Given the description of an element on the screen output the (x, y) to click on. 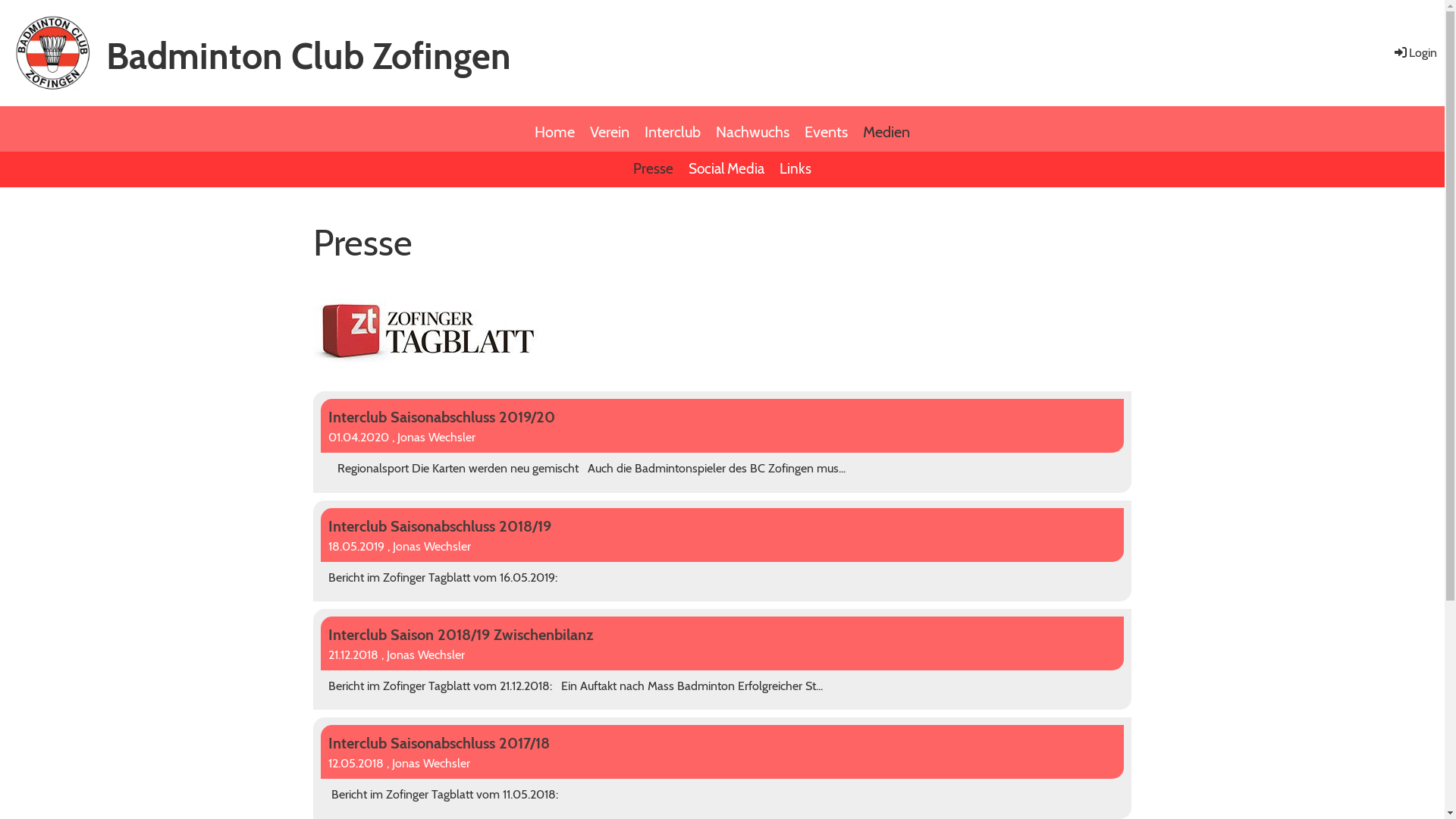
Presse Element type: text (652, 169)
Social Media Element type: text (725, 169)
Nachwuchs Element type: text (752, 128)
Login Element type: text (1414, 52)
Events Element type: text (826, 128)
Interclub Element type: text (672, 128)
Links Element type: text (795, 169)
Verein Element type: text (609, 128)
Home Element type: text (554, 128)
Badminton Club Zofingen Element type: text (308, 56)
Medien Element type: text (886, 128)
